Given the description of an element on the screen output the (x, y) to click on. 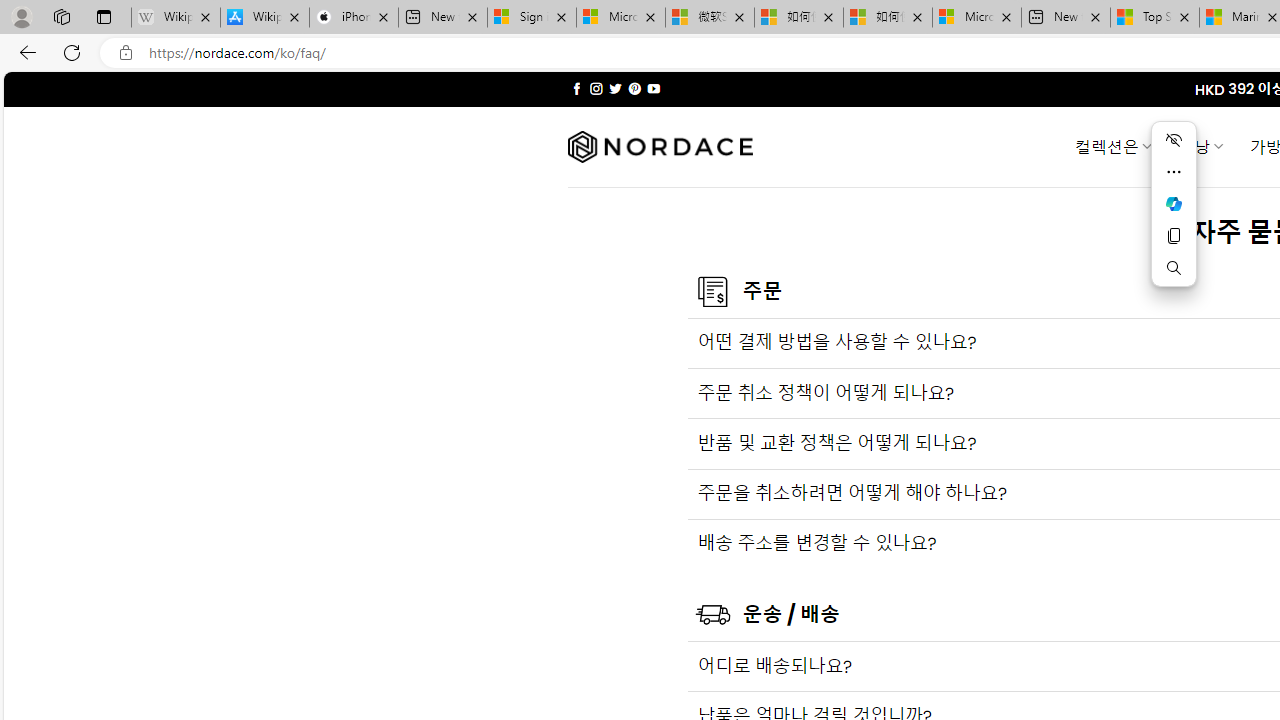
Microsoft account | Account Checkup (977, 17)
Hide menu (1173, 139)
Mini menu on text selection (1173, 215)
